Given the description of an element on the screen output the (x, y) to click on. 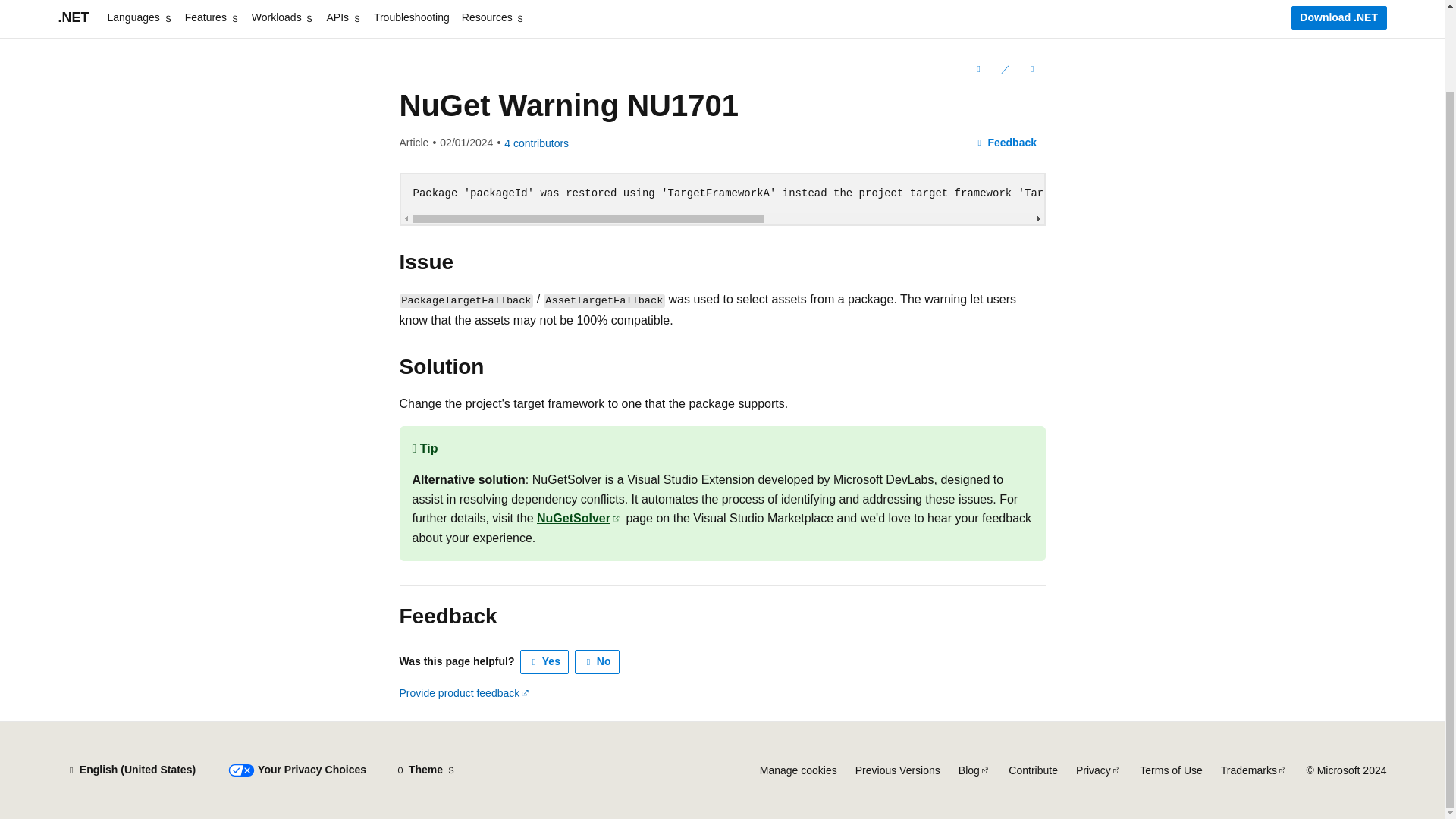
.NET (73, 17)
Languages (140, 18)
Features (212, 18)
This article is helpful (544, 662)
View all contributors (536, 143)
Theme (425, 770)
More actions (1031, 68)
Edit This Document (1004, 68)
This article is not helpful (597, 662)
